Given the description of an element on the screen output the (x, y) to click on. 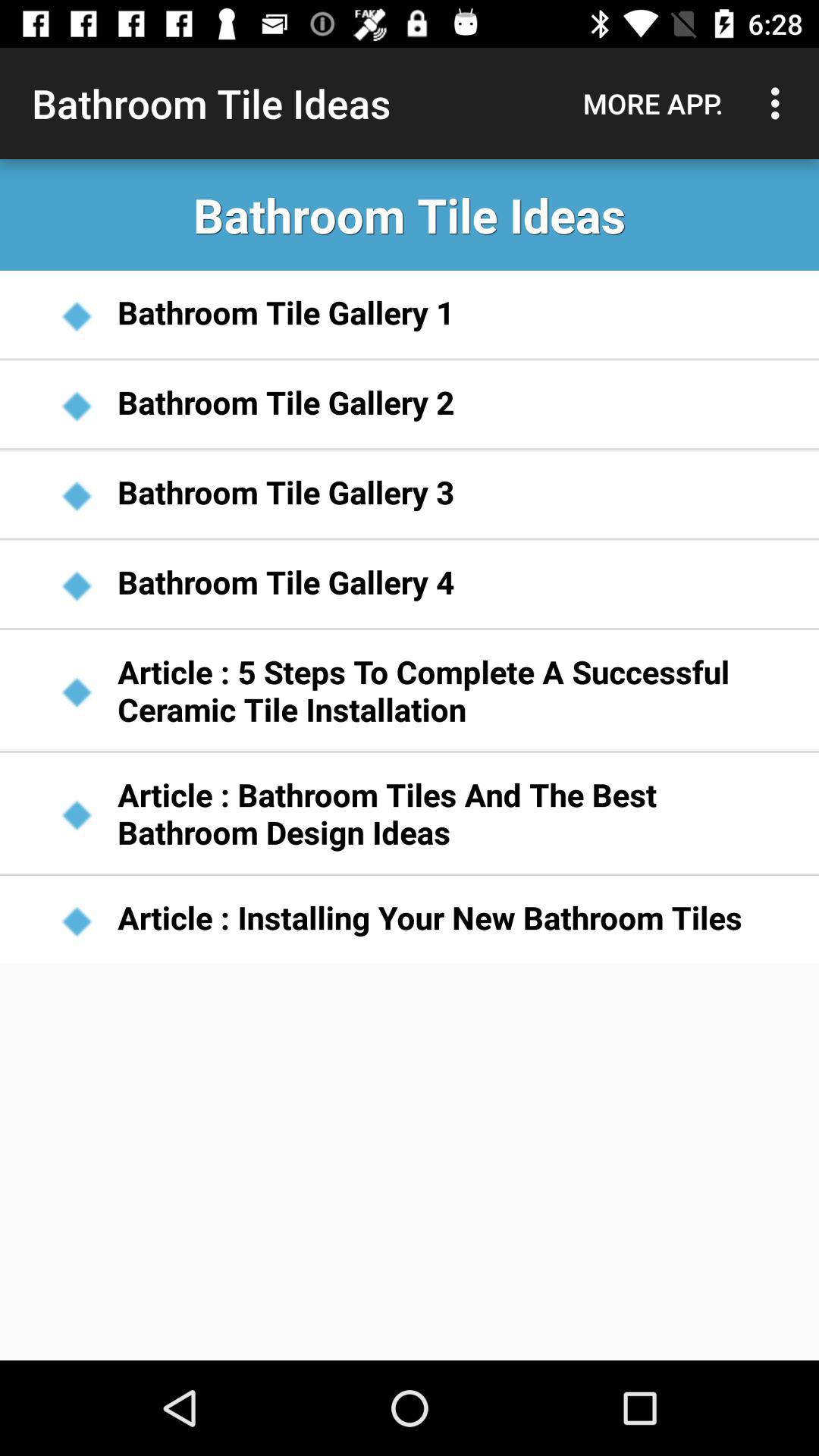
click icon above bathroom tile ideas app (653, 103)
